Given the description of an element on the screen output the (x, y) to click on. 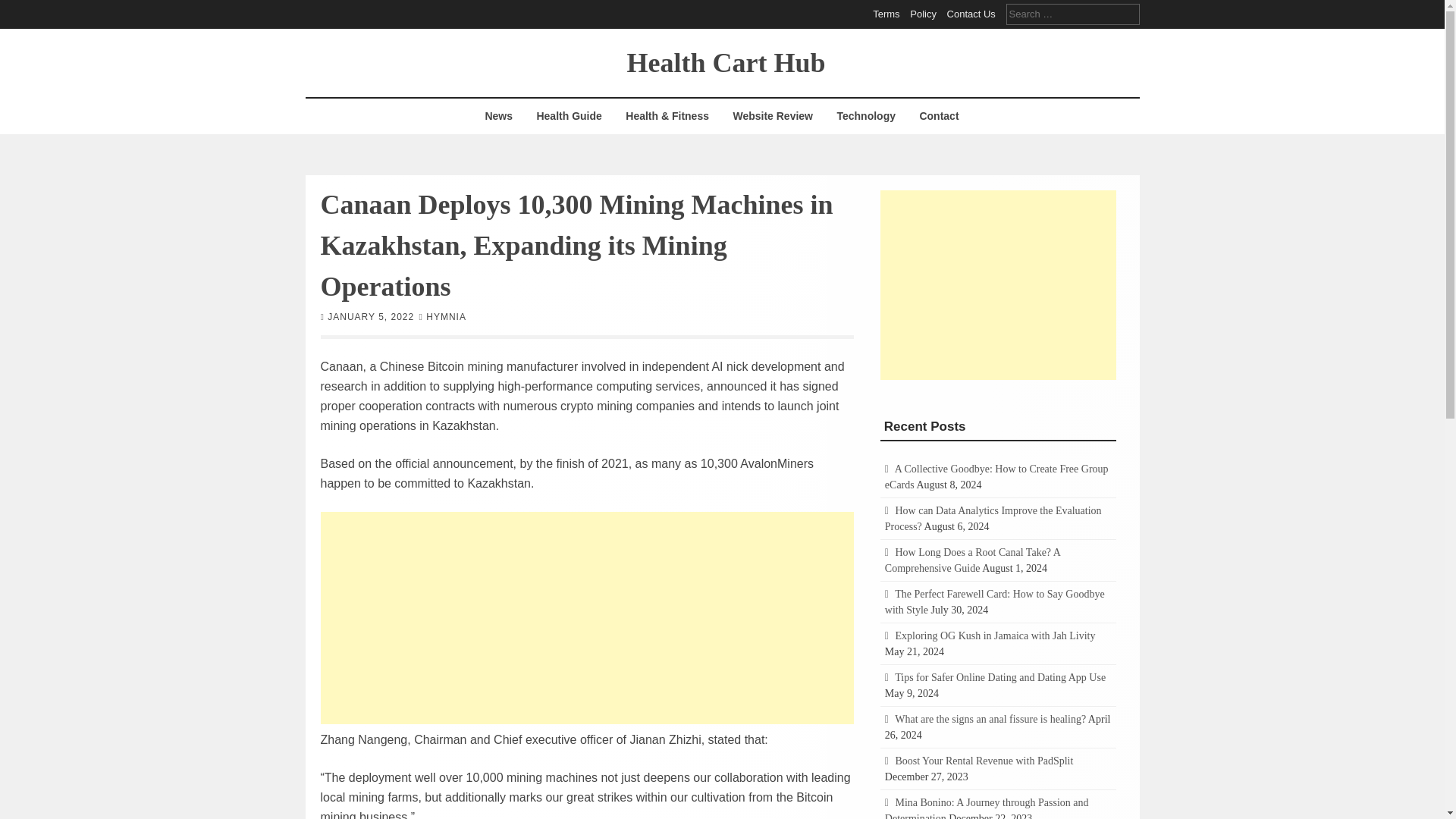
How Long Does a Root Canal Take? A Comprehensive Guide (972, 560)
Health Guide (568, 116)
How can Data Analytics Improve the Evaluation Process? (993, 518)
HYMNIA (445, 316)
Terms (885, 13)
JANUARY 5, 2022 (370, 316)
Exploring OG Kush in Jamaica with Jah Livity (994, 635)
The Perfect Farewell Card: How to Say Goodbye with Style (995, 601)
Boost Your Rental Revenue with PadSplit (984, 760)
Search (23, 9)
